Given the description of an element on the screen output the (x, y) to click on. 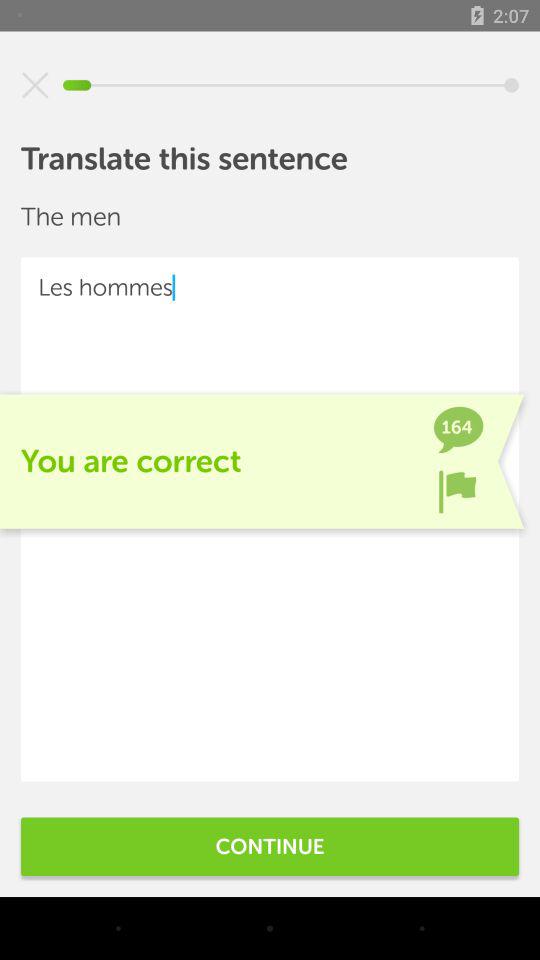
open the continue item (270, 846)
